Given the description of an element on the screen output the (x, y) to click on. 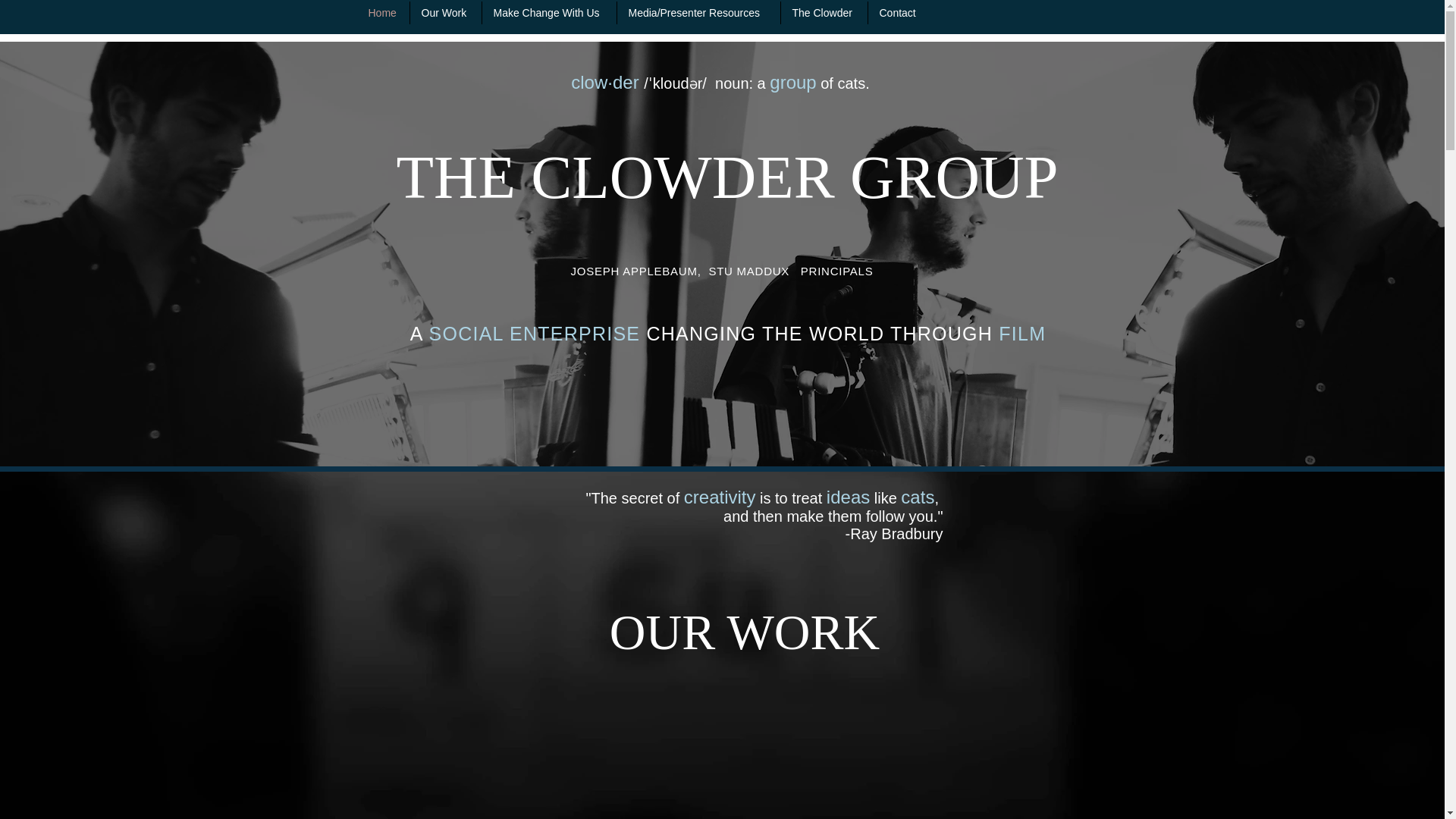
Contact (897, 12)
Our Work (444, 12)
The Clowder (823, 12)
Home (382, 12)
Make Change With Us (548, 12)
